Given the description of an element on the screen output the (x, y) to click on. 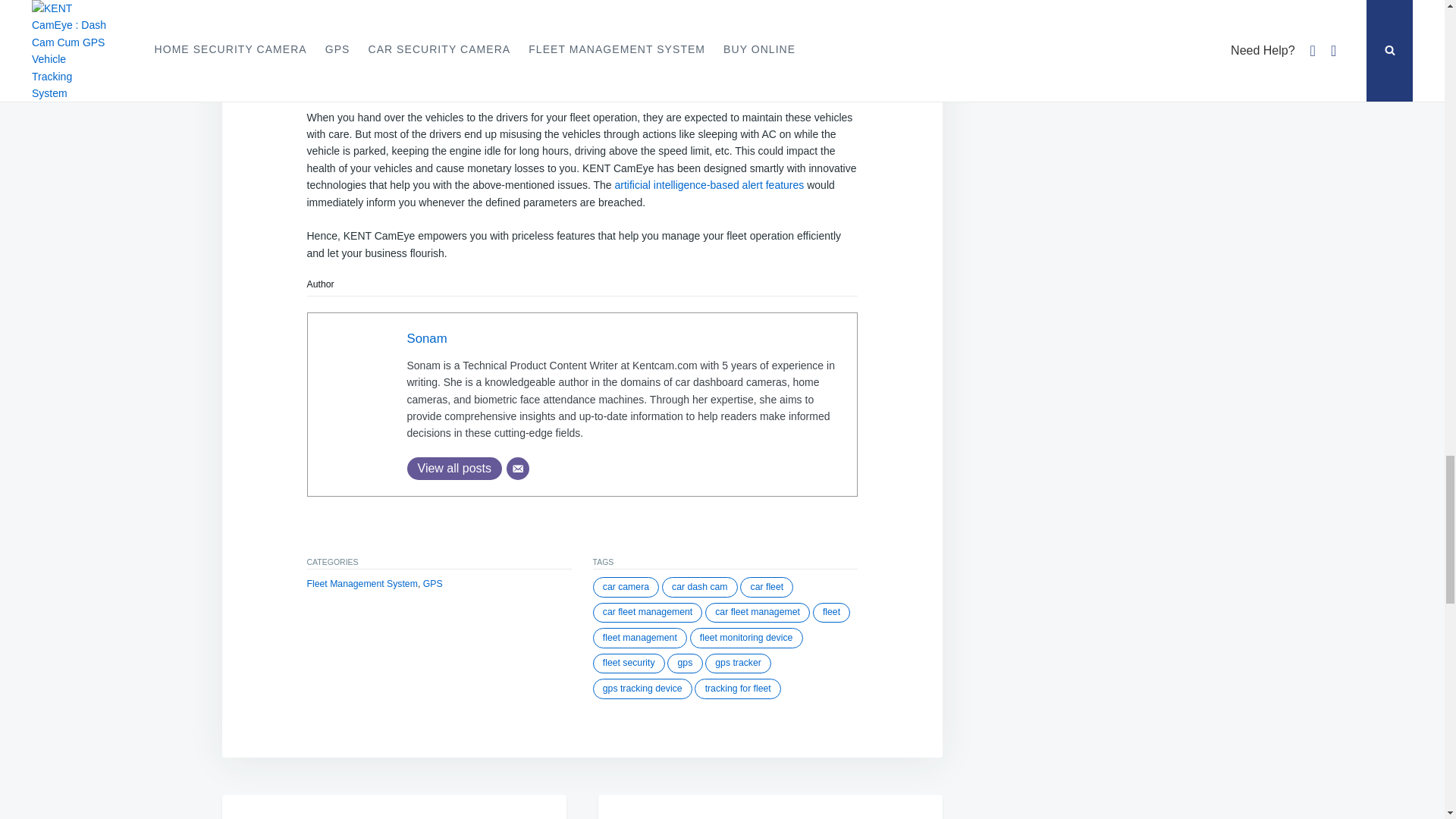
car dash cam (700, 587)
Sonam (426, 338)
View all posts (454, 468)
KENT CamEye app (374, 14)
View all posts (454, 468)
car camera (625, 587)
GPS (432, 583)
Fleet Management System (360, 583)
artificial intelligence-based alert features (708, 184)
Use KENT CamEye to Protect Your Car from Misuse (334, 806)
Sonam (426, 338)
